Given the description of an element on the screen output the (x, y) to click on. 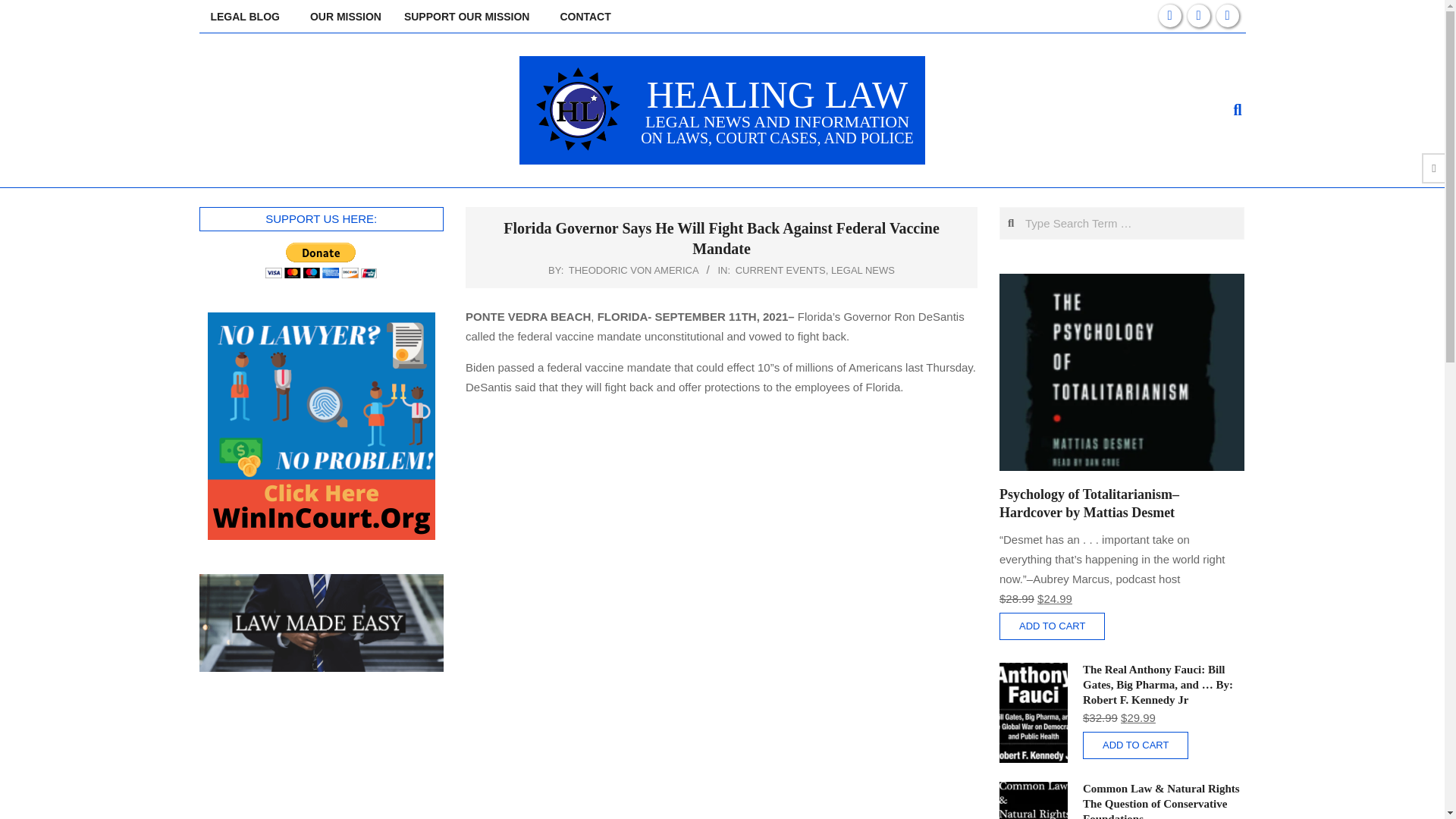
Posts by Theodoric Von America (633, 270)
SUPPORT OUR MISSION (470, 16)
Search (24, 9)
LEGAL NEWS (863, 270)
CONTACT (584, 16)
OUR MISSION (345, 16)
LEGAL BLOG (248, 16)
ADD TO CART (1051, 625)
ADD TO CART (1135, 745)
